Given the description of an element on the screen output the (x, y) to click on. 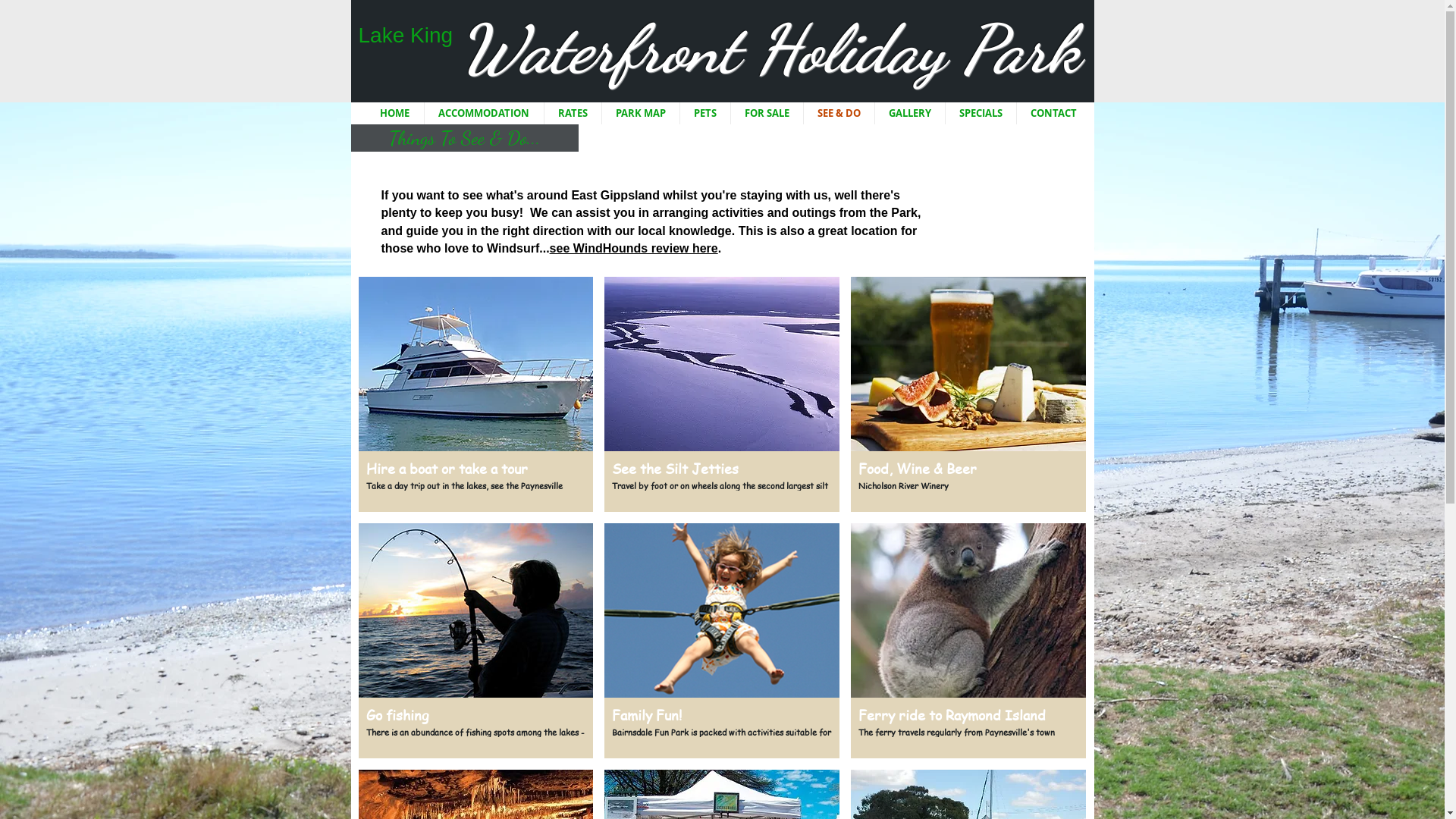
HOME Element type: text (394, 113)
CONTACT Element type: text (1052, 113)
SPECIALS Element type: text (979, 113)
PETS Element type: text (704, 113)
FOR SALE Element type: text (767, 113)
GALLERY Element type: text (909, 113)
RATES Element type: text (572, 113)
SEE & DO Element type: text (838, 113)
see WindHounds review here Element type: text (633, 247)
ACCOMMODATION Element type: text (483, 113)
PARK MAP Element type: text (640, 113)
